Given the description of an element on the screen output the (x, y) to click on. 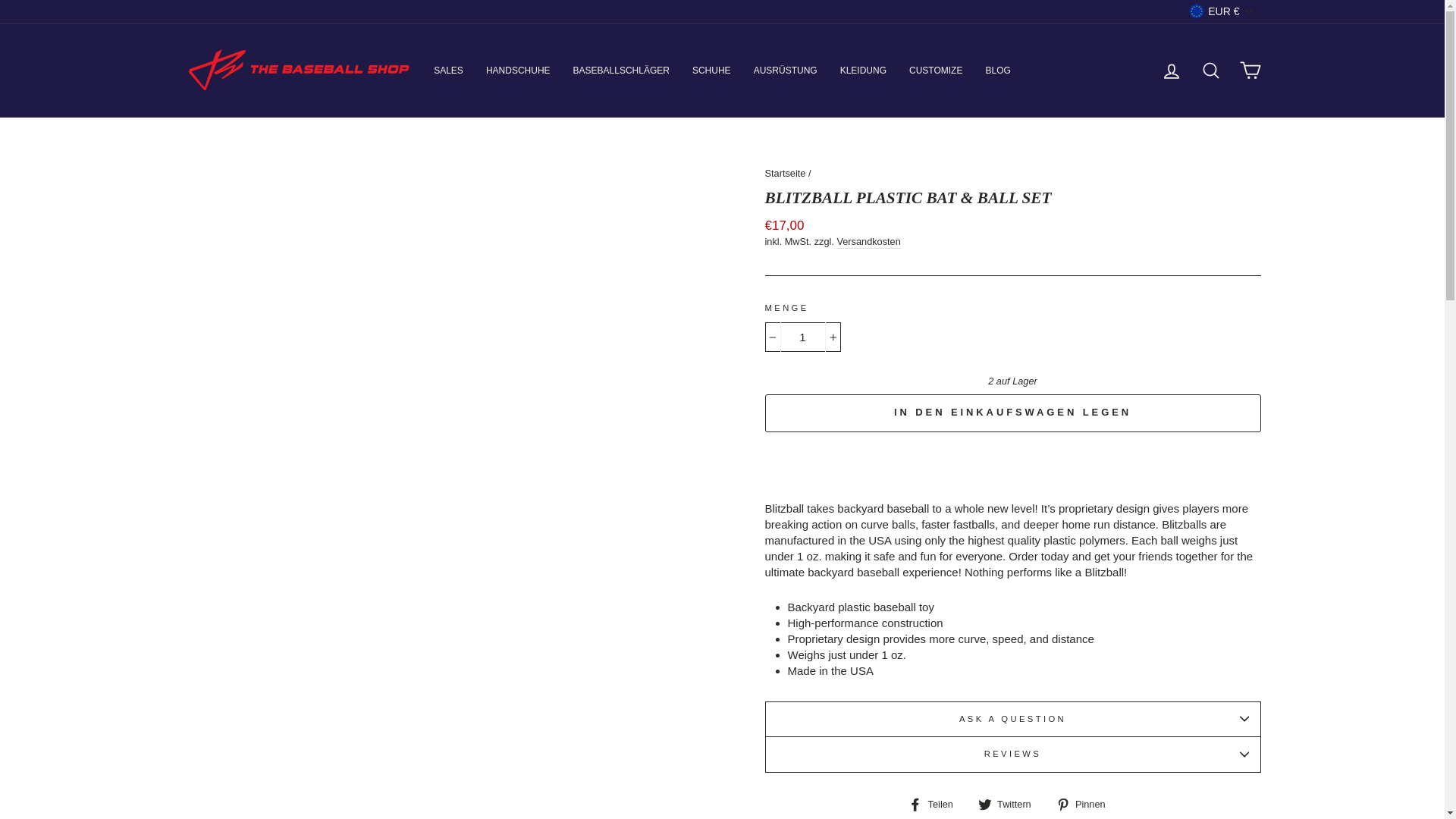
Auf Facebook teilen (935, 803)
Auf Twitter twittern (1010, 803)
1 (802, 337)
Auf Pinterest pinnen (1086, 803)
